Given the description of an element on the screen output the (x, y) to click on. 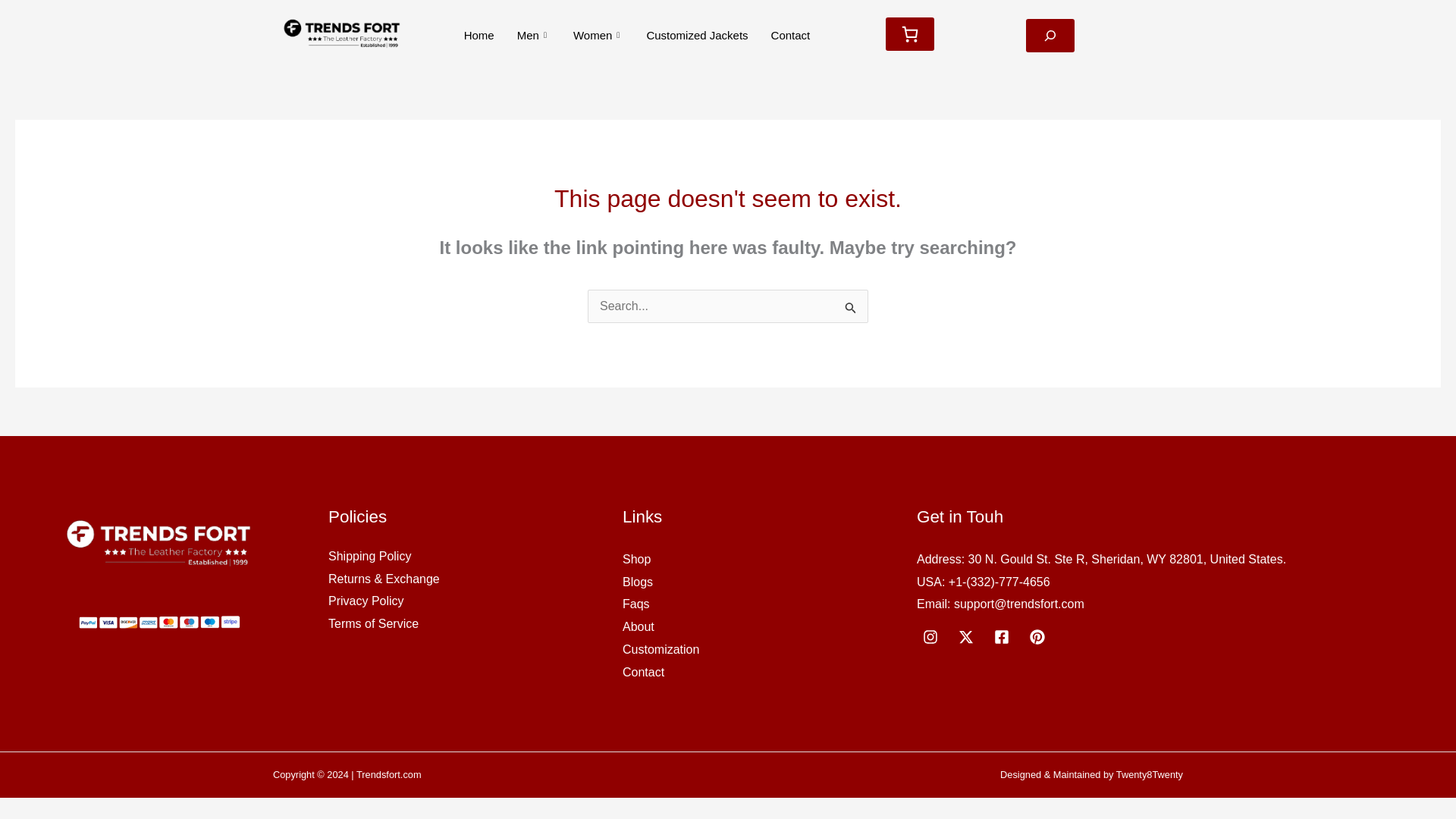
Home (478, 35)
Men (533, 35)
Women (598, 35)
